Given the description of an element on the screen output the (x, y) to click on. 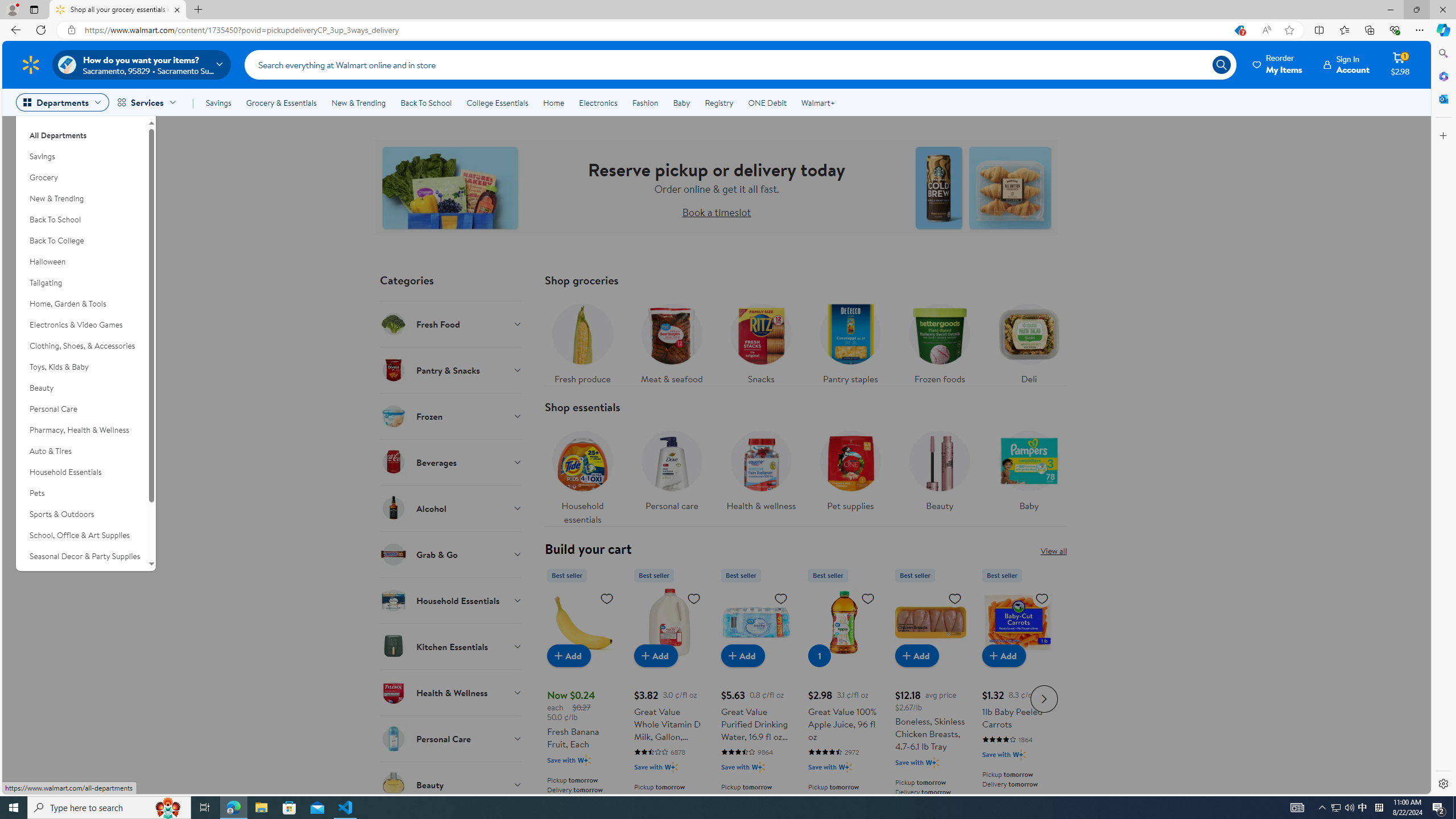
Great Value 100% Apple Juice, 96 fl oz (843, 621)
Walmart+ (817, 102)
Household Essentials (81, 472)
Snacks (760, 340)
ONE Debit (767, 102)
Sign InAccount (1347, 64)
Next slide for Product Carousel list (1044, 698)
Sign in to add to Favorites list, Fresh Banana Fruit, Each (606, 597)
Pet supplies (850, 467)
